Given the description of an element on the screen output the (x, y) to click on. 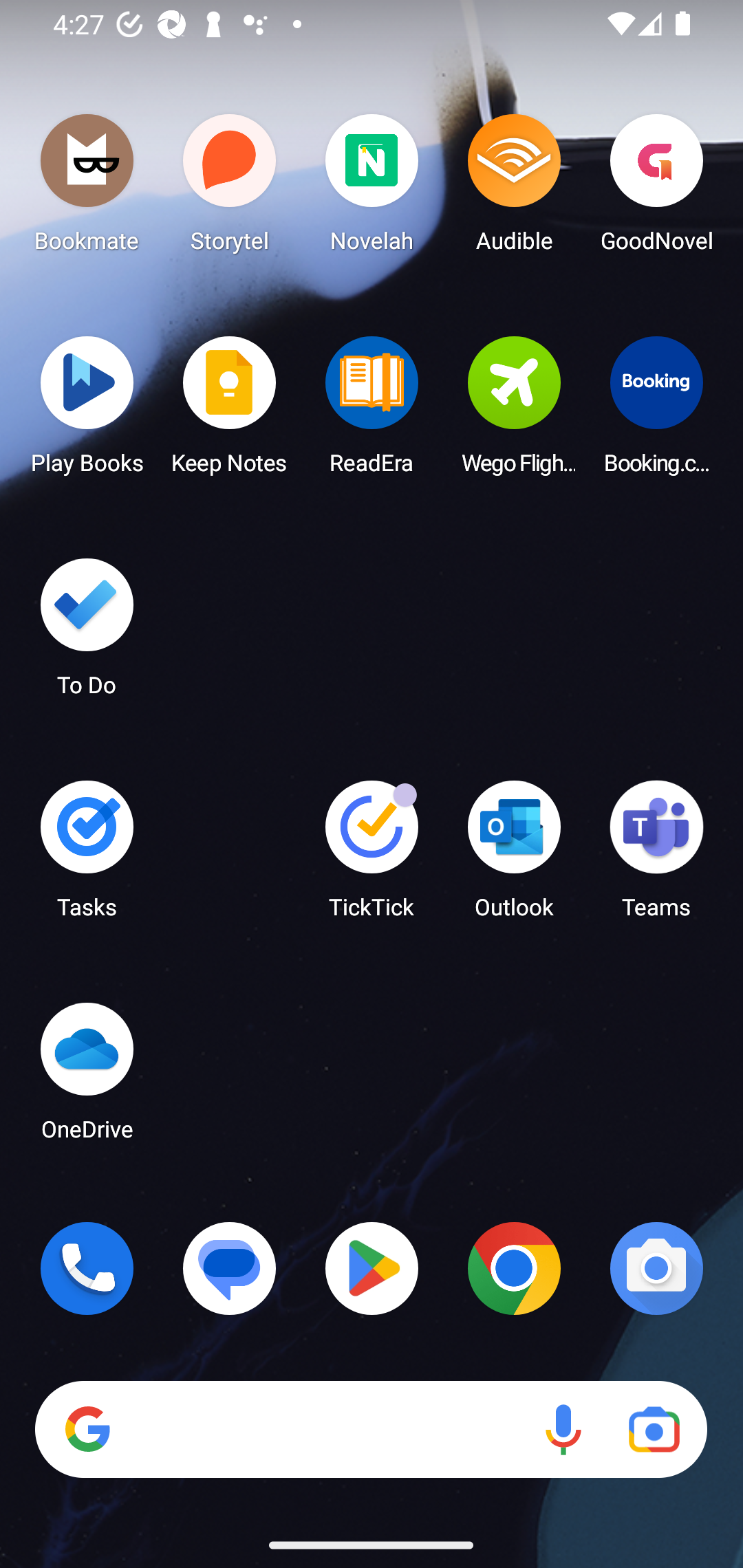
Bookmate (86, 188)
Storytel (229, 188)
Novelah (371, 188)
Audible (513, 188)
GoodNovel (656, 188)
Play Books (86, 410)
Keep Notes (229, 410)
ReadEra (371, 410)
Wego Flights & Hotels (513, 410)
Booking.com (656, 410)
To Do (86, 633)
Tasks (86, 854)
TickTick TickTick has 3 notifications (371, 854)
Outlook (513, 854)
Teams (656, 854)
OneDrive (86, 1076)
Phone (86, 1268)
Messages (229, 1268)
Play Store (371, 1268)
Chrome (513, 1268)
Camera (656, 1268)
Voice search (562, 1429)
Google Lens (653, 1429)
